Given the description of an element on the screen output the (x, y) to click on. 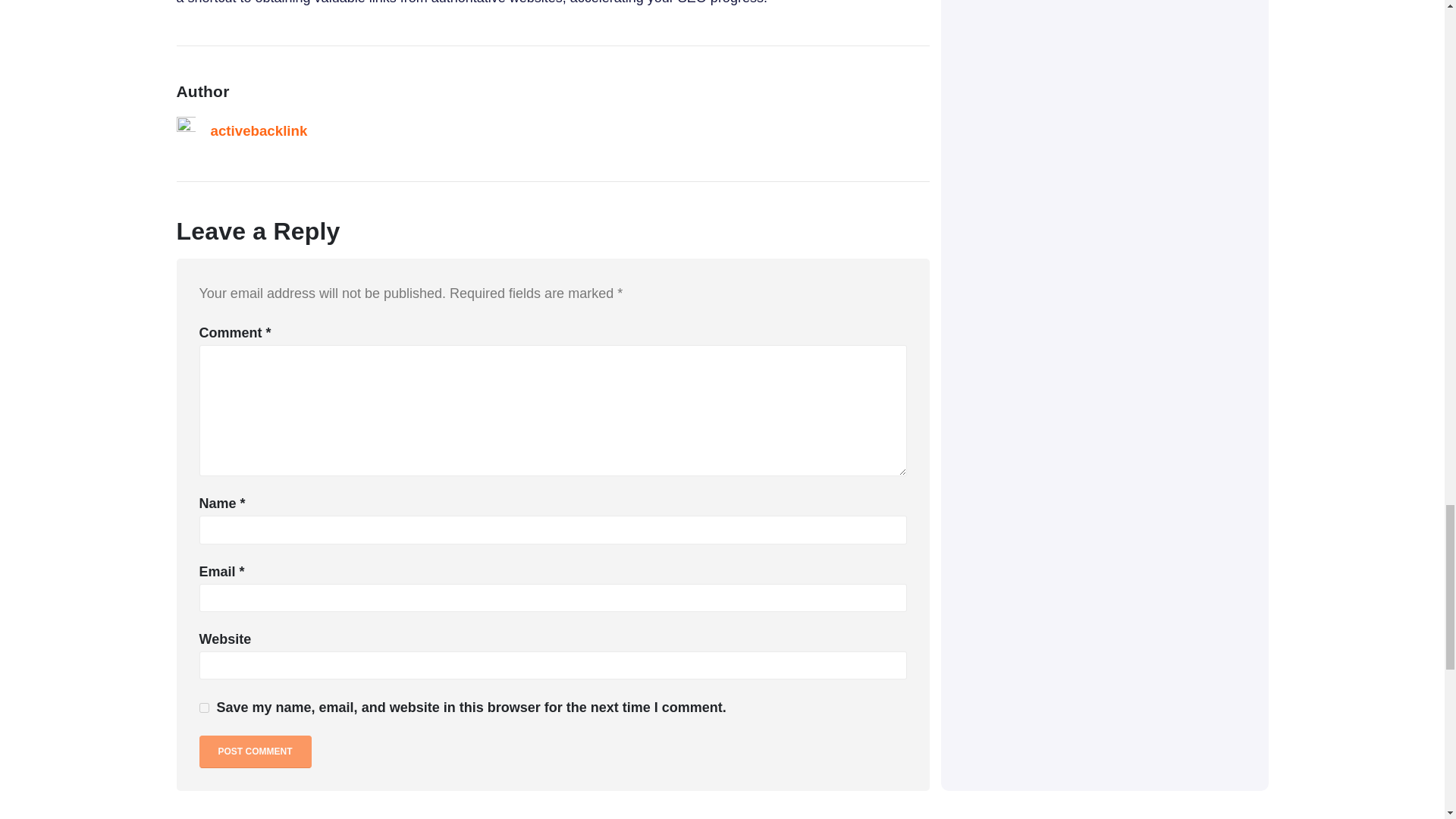
Post Comment (254, 751)
yes (203, 707)
Posts by activebacklink (259, 130)
